Given the description of an element on the screen output the (x, y) to click on. 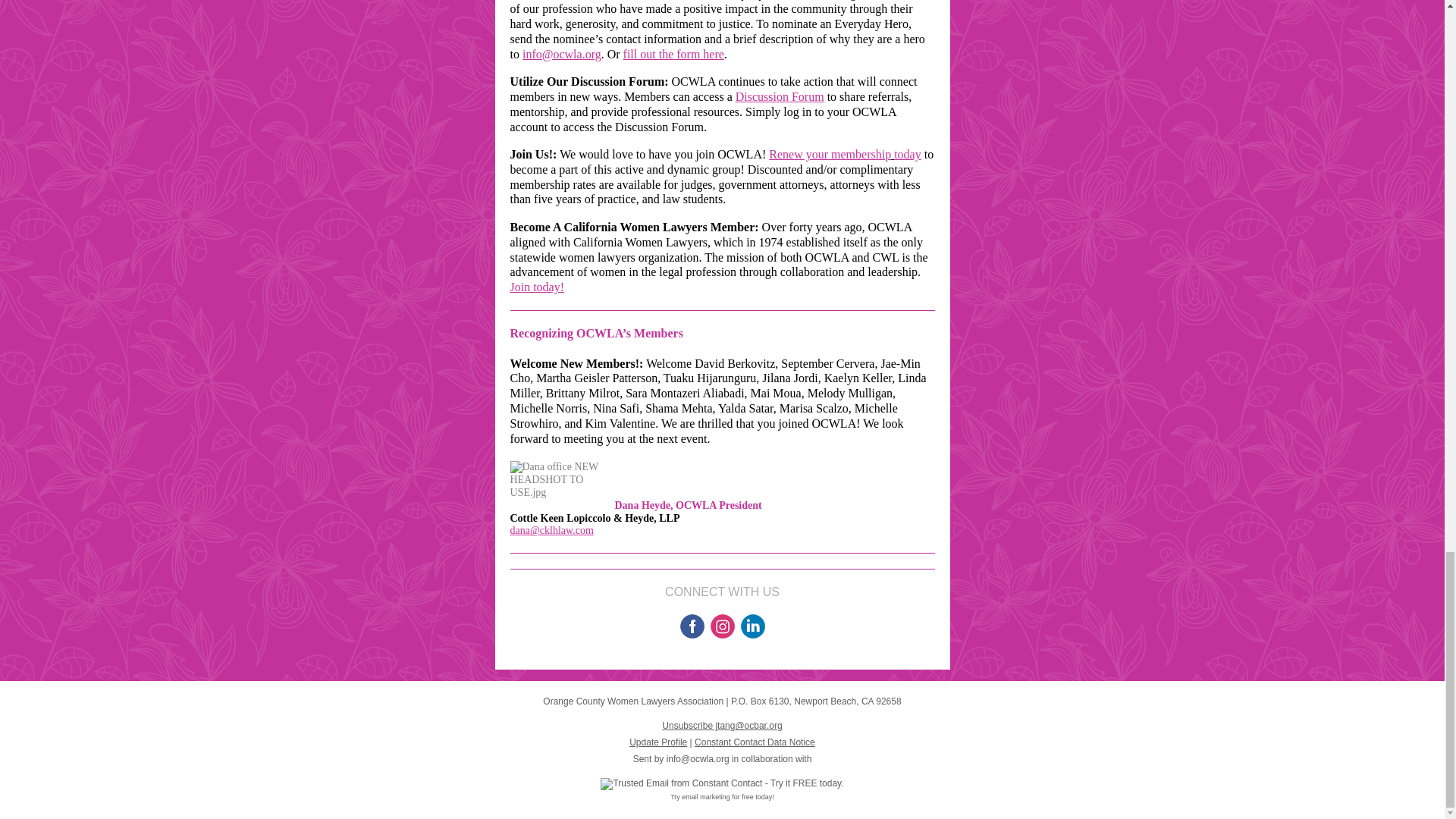
Renew your membership (829, 154)
Constant Contact Data Notice (754, 742)
Discussion Forum (779, 96)
Update Profile (657, 742)
today (907, 154)
fill out the form here (673, 53)
Join today! (536, 286)
